Given the description of an element on the screen output the (x, y) to click on. 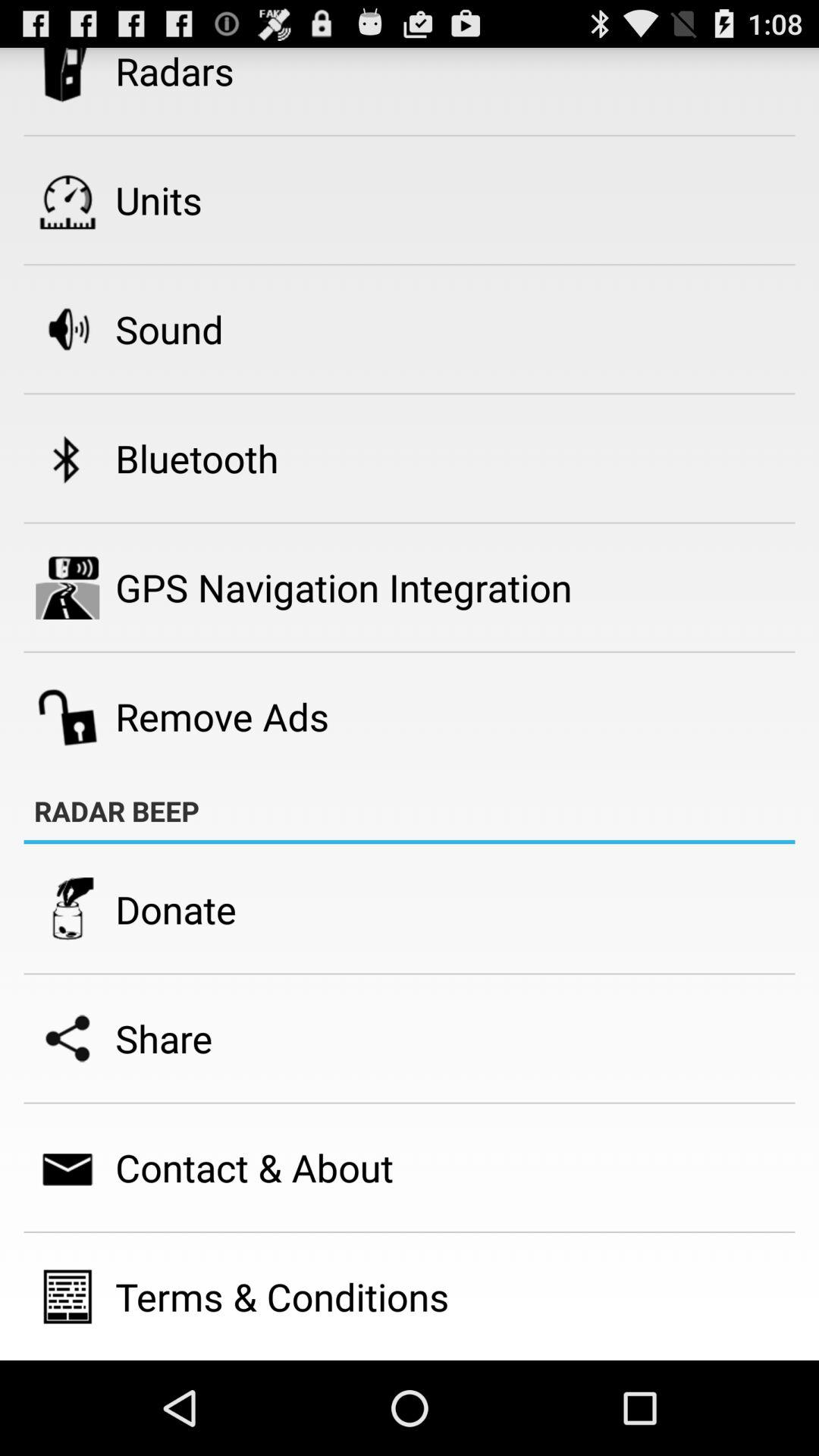
flip until sound item (169, 328)
